Given the description of an element on the screen output the (x, y) to click on. 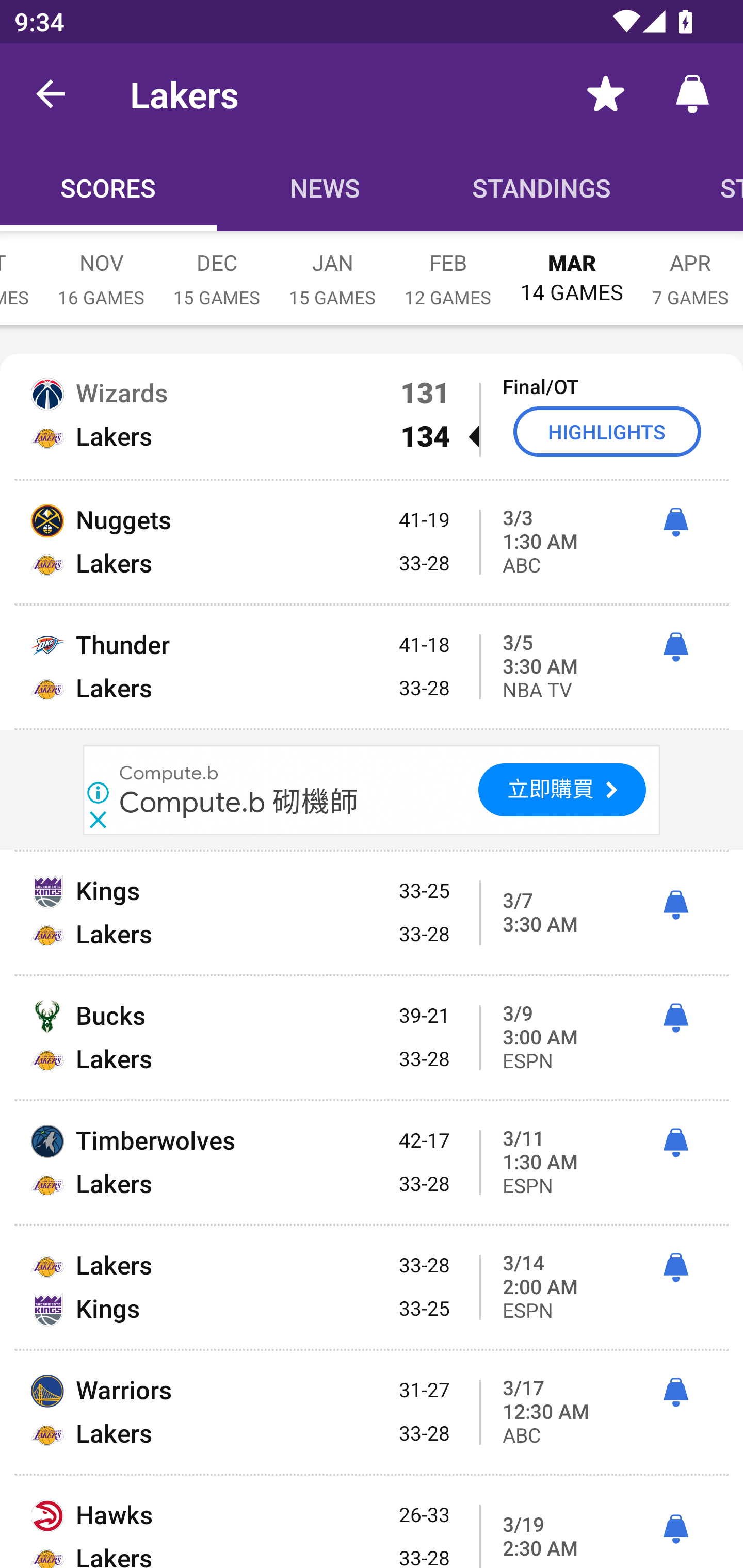
back.button (50, 93)
Favorite toggle (605, 93)
Alerts (692, 93)
News NEWS (324, 187)
Standings STANDINGS (541, 187)
NOV 16 GAMES (101, 268)
DEC 15 GAMES (216, 268)
JAN 15 GAMES (332, 268)
FEB 12 GAMES (447, 268)
MAR 14 GAMES (571, 267)
APR 7 GAMES (690, 268)
Wizards 131 Final/OT Lakers 134  HIGHLIGHTS (371, 416)
HIGHLIGHTS (607, 431)
Nuggets 41-19 Lakers 33-28 3/3 1:30 AM ì ABC (371, 542)
ì (675, 522)
Thunder 41-18 Lakers 33-28 3/5 3:30 AM ì NBA TV (371, 666)
ì (675, 647)
Compute.b (168, 771)
立即購買 (561, 789)
Compute.b 砌機師 (238, 801)
Kings 33-25 Lakers 33-28 3/7 3:30 AM ì (371, 912)
ì (675, 905)
Bucks 39-21 Lakers 33-28 3/9 3:00 AM ì ESPN (371, 1037)
ì (675, 1017)
ì (675, 1142)
Lakers 33-28 Kings 33-25 3/14 2:00 AM ì ESPN (371, 1287)
ì (675, 1267)
Warriors 31-27 Lakers 33-28 3/17 12:30 AM ì ABC (371, 1412)
ì (675, 1392)
Hawks 26-33 Lakers 33-28 3/19 2:30 AM ì (371, 1521)
ì (675, 1529)
